Given the description of an element on the screen output the (x, y) to click on. 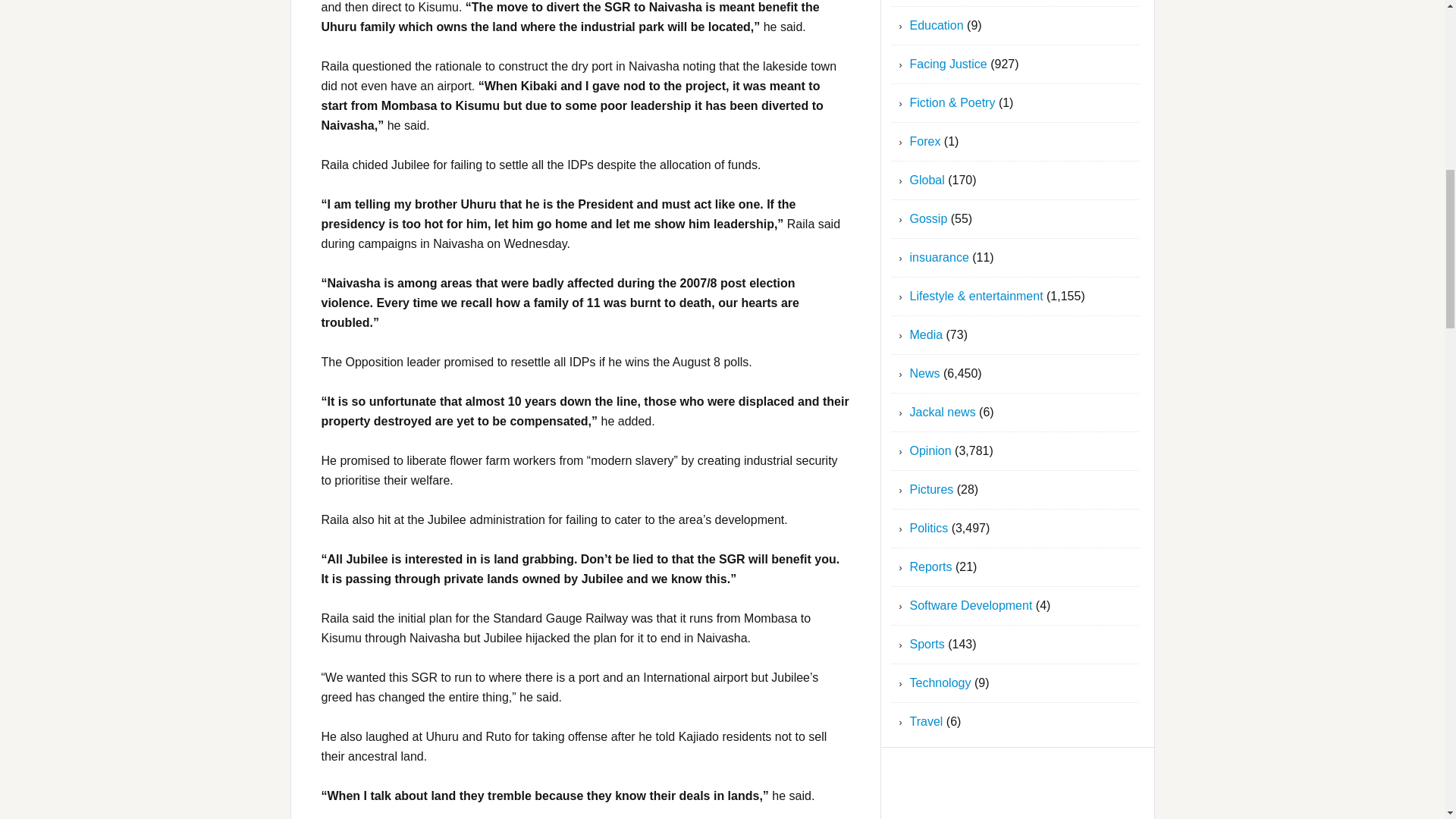
Forex (925, 141)
Facing Justice (948, 63)
Education (936, 24)
